Given the description of an element on the screen output the (x, y) to click on. 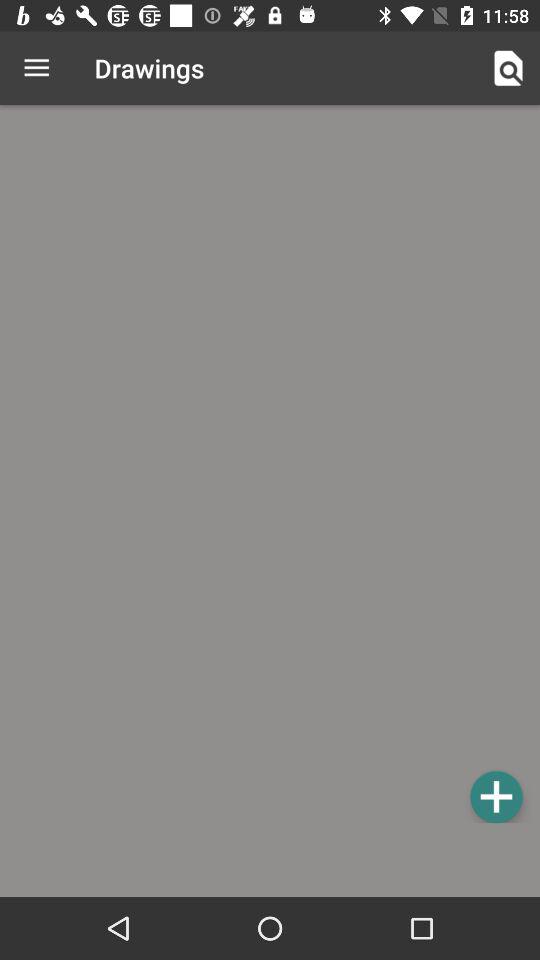
add picture (496, 796)
